Given the description of an element on the screen output the (x, y) to click on. 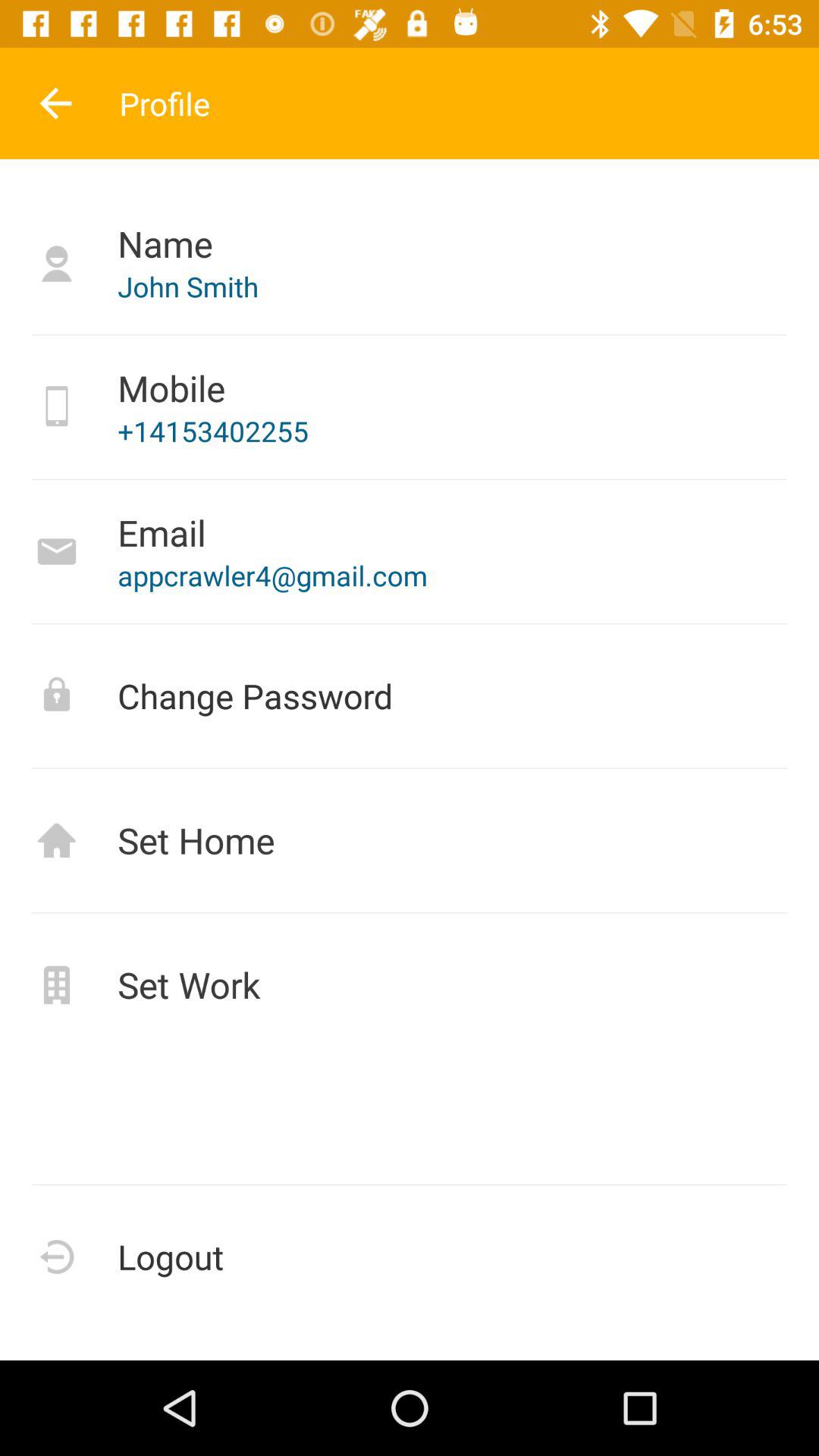
launch the item to the left of the profile app (55, 103)
